Given the description of an element on the screen output the (x, y) to click on. 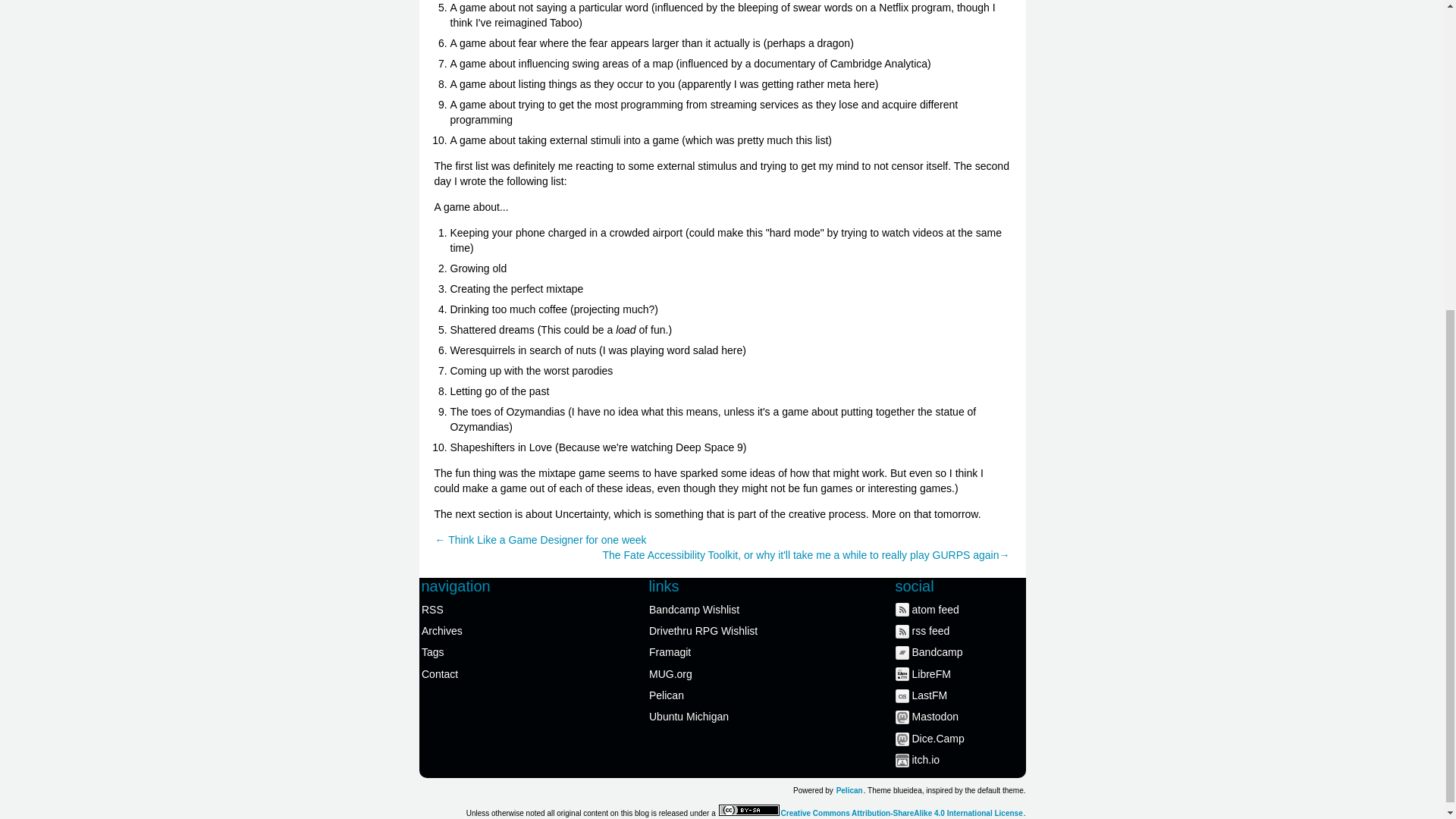
itch.io (959, 759)
MUG.org (716, 672)
LastFM (959, 694)
Tags (489, 651)
Archives (489, 630)
Dice.Camp (959, 738)
Framagit (716, 651)
Bandcamp Wishlist (716, 608)
Bandcamp (959, 651)
